Given the description of an element on the screen output the (x, y) to click on. 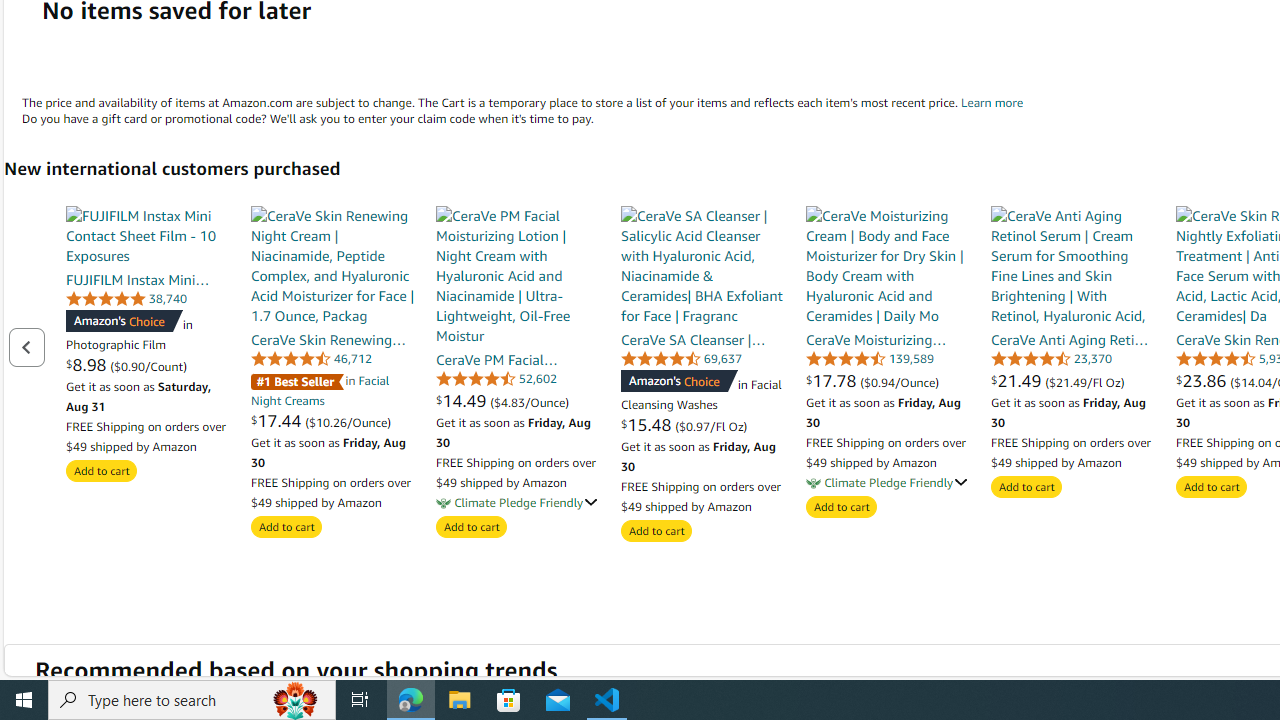
FUJIFILM Instax Mini Contact Sheet Film - 10 Exposures (148, 235)
$23.86  (1203, 379)
$17.44  (277, 420)
Class: a-link-normal a-text-normal (1072, 379)
($21.49/Fl Oz) (1084, 381)
Climate Pledge Friendly (813, 483)
Add to cart (1211, 487)
